Given the description of an element on the screen output the (x, y) to click on. 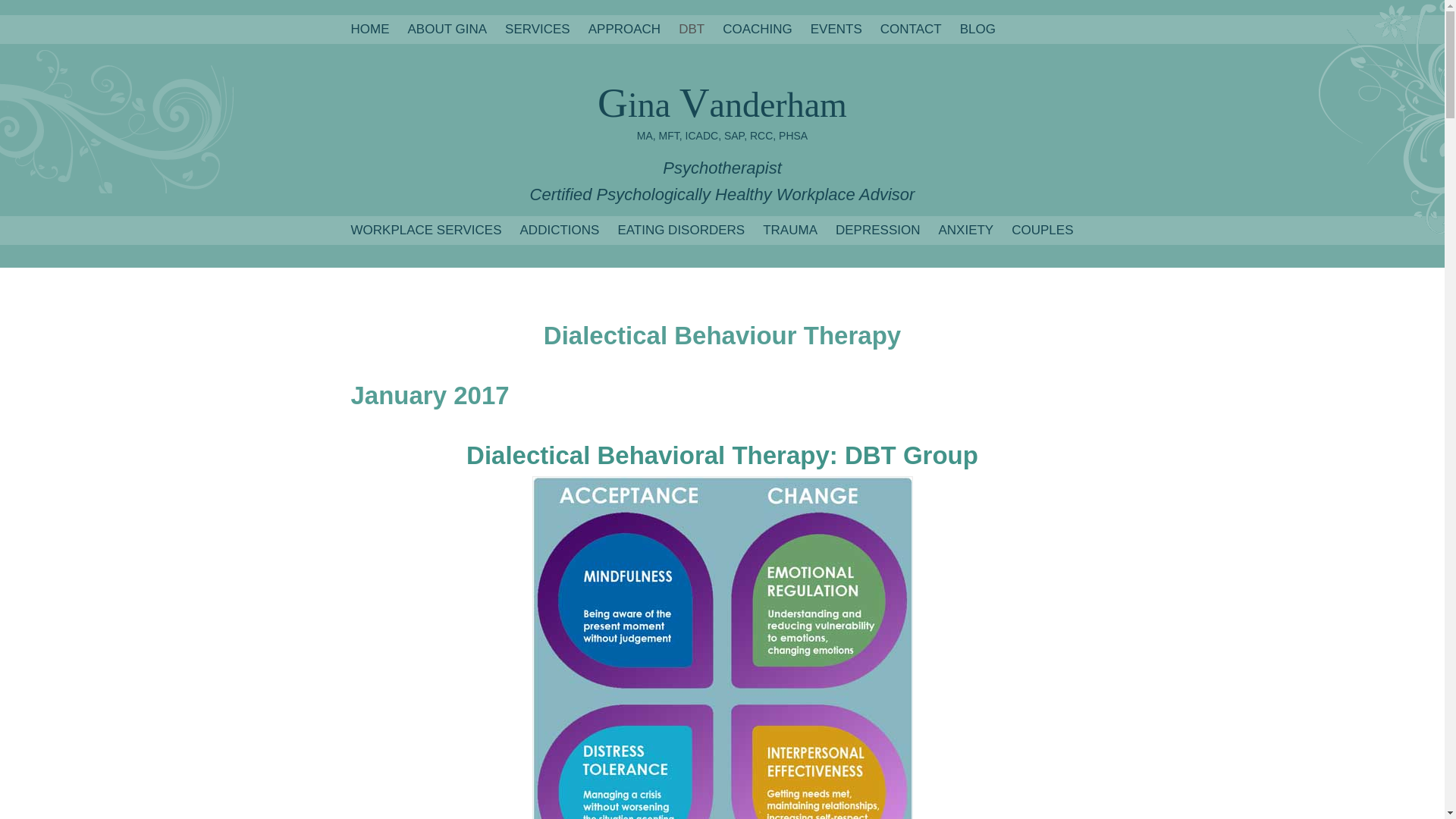
Blog (977, 29)
Home (369, 29)
WORKPLACE SERVICES (425, 230)
DBT (691, 29)
TRAUMA (789, 230)
Events (835, 29)
DBT (691, 29)
About Gina (447, 29)
EVENTS (835, 29)
Eating Disorders (680, 230)
ABOUT GINA (447, 29)
ADDICTIONS (559, 230)
DEPRESSION (877, 230)
Trauma (789, 230)
Depression (877, 230)
